Given the description of an element on the screen output the (x, y) to click on. 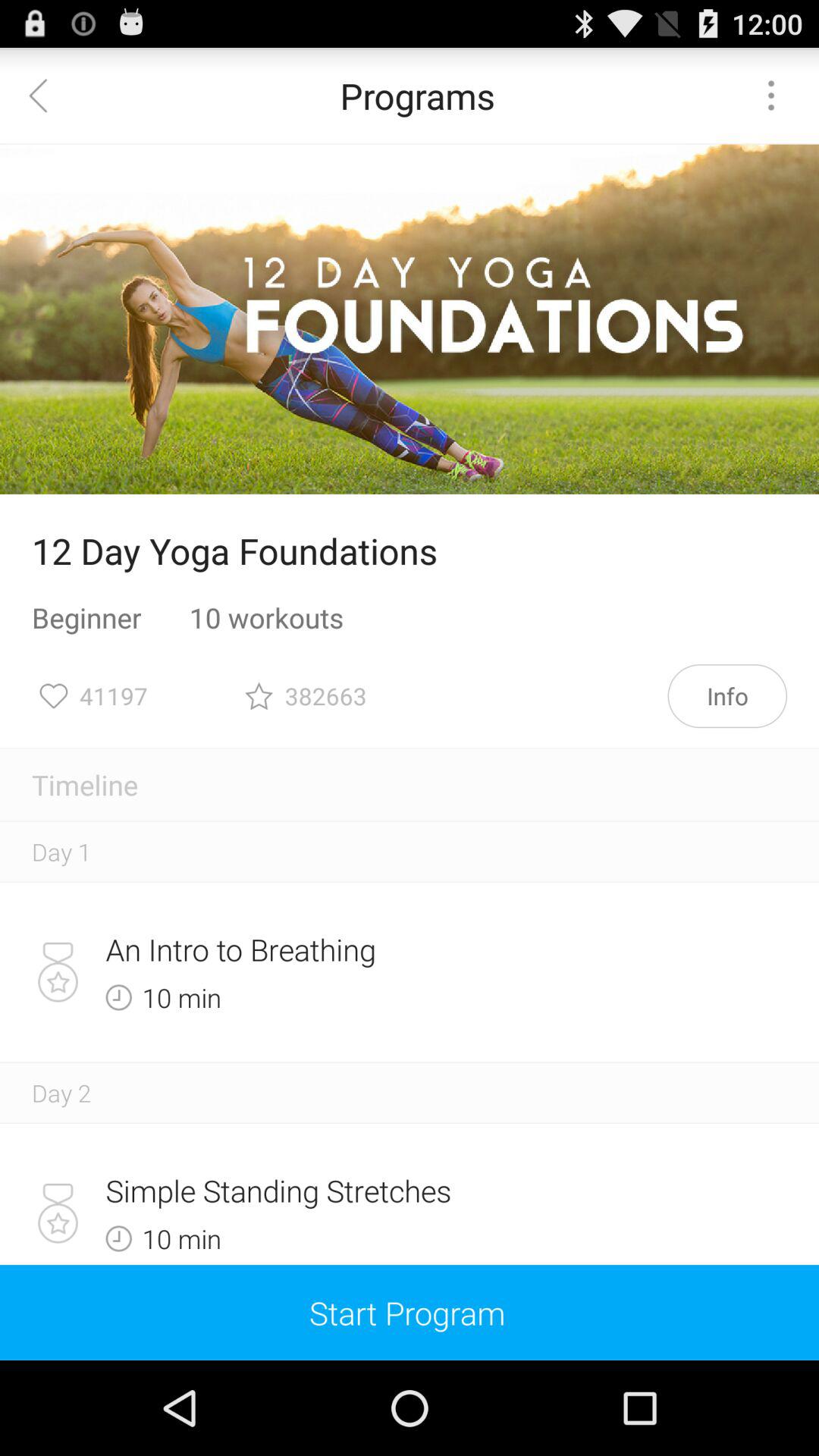
flip to the simple standing stretches icon (356, 1190)
